Given the description of an element on the screen output the (x, y) to click on. 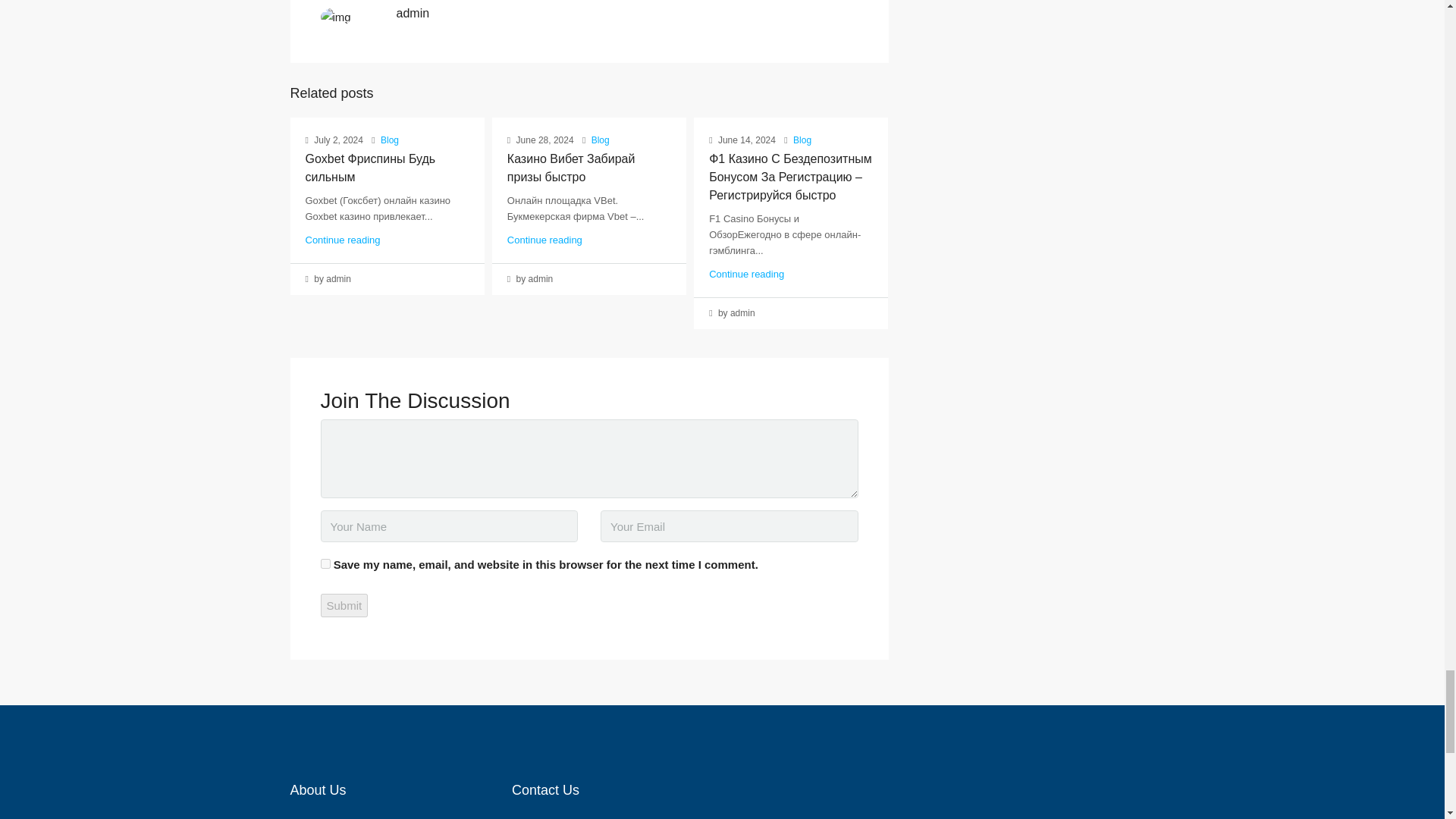
yes (325, 563)
Submit (344, 605)
